Given the description of an element on the screen output the (x, y) to click on. 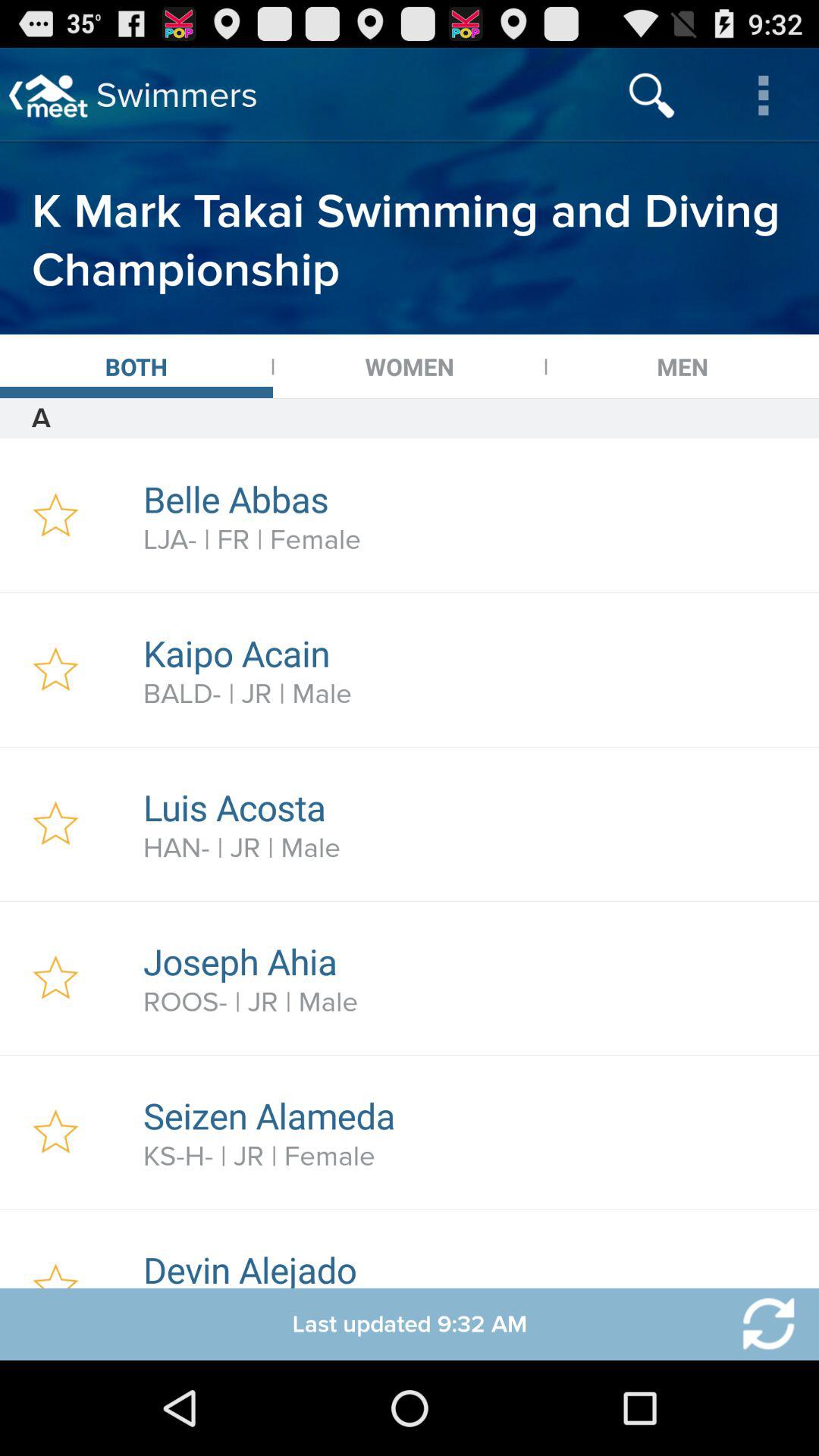
save to favorite (55, 515)
